Given the description of an element on the screen output the (x, y) to click on. 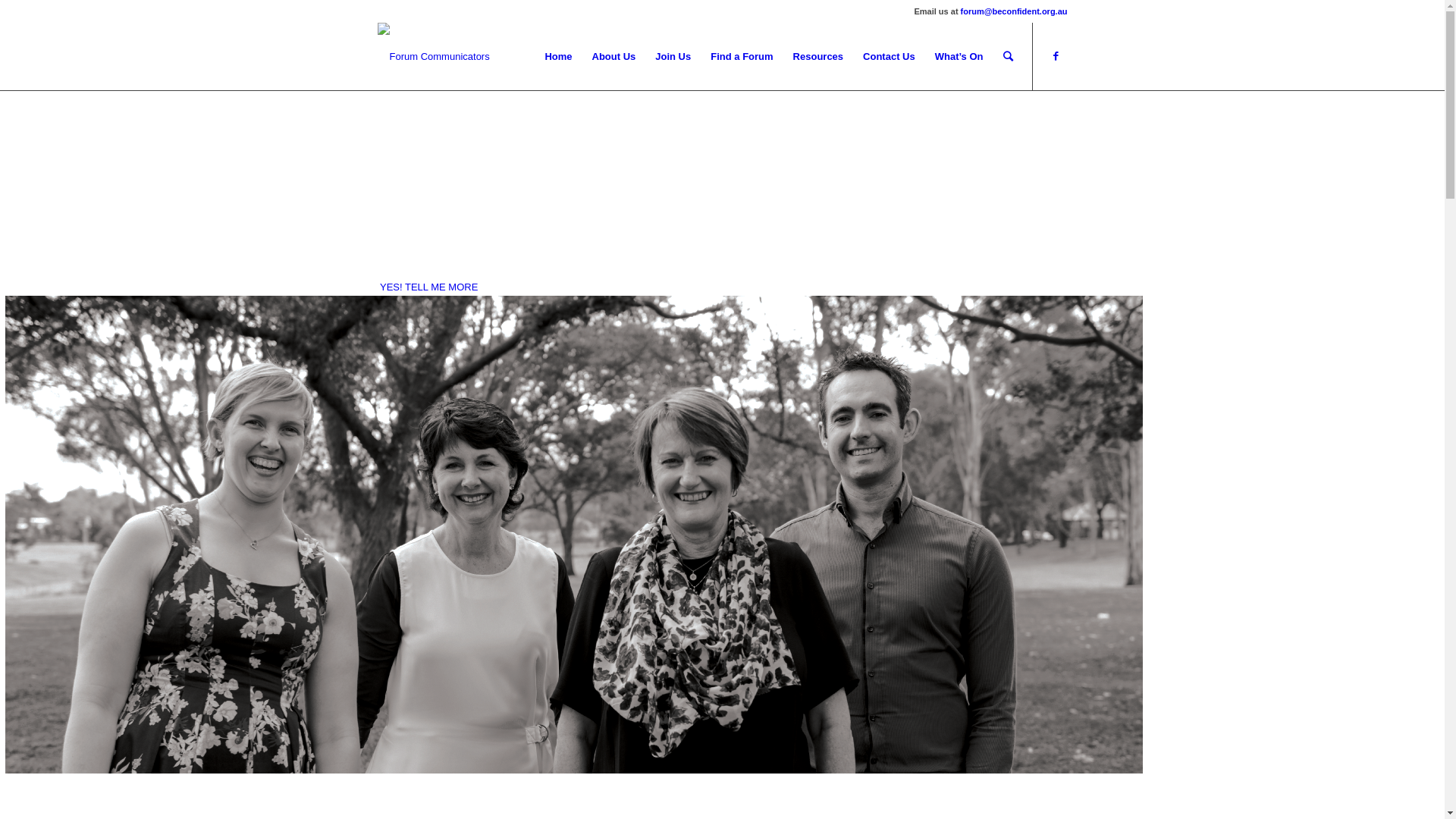
Find a Forum Element type: text (741, 56)
YES! TELL ME MORE Element type: text (428, 286)
Home Element type: text (557, 56)
About Us Element type: text (614, 56)
Facebook Element type: hover (1055, 55)
Resources Element type: text (818, 56)
Contact Us Element type: text (889, 56)
Home-Page-Hero-B&W darker Element type: hover (573, 534)
forum@beconfident.org.au Element type: text (1013, 10)
Join Us Element type: text (672, 56)
